Given the description of an element on the screen output the (x, y) to click on. 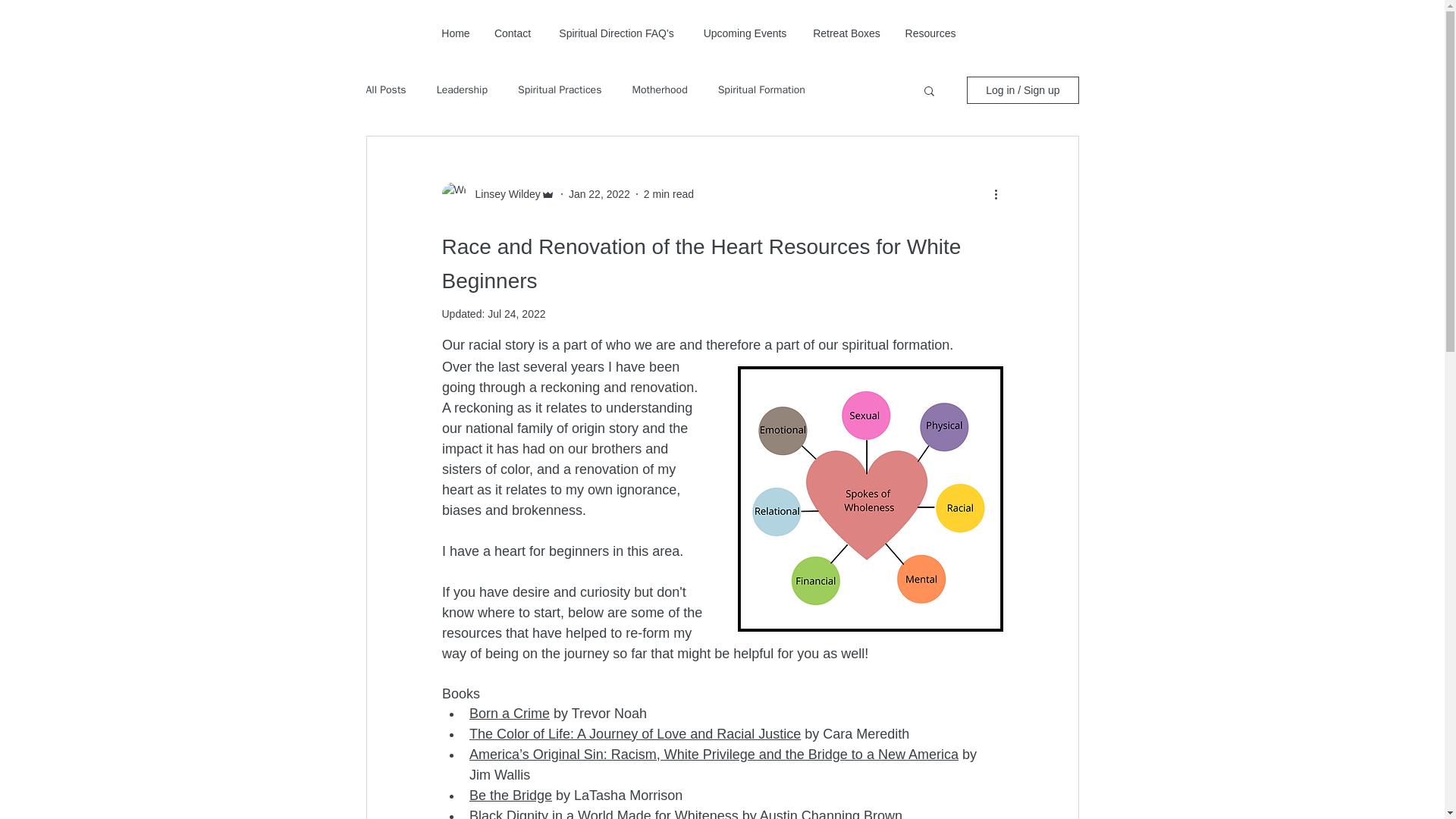
Born a Crime (508, 713)
Spiritual Formation (761, 90)
Home (455, 33)
Resources (930, 33)
Motherhood (659, 90)
Linsey Wildey (502, 194)
Jul 24, 2022 (515, 313)
Leadership (461, 90)
Contact (512, 33)
Spiritual Practices (559, 90)
Upcoming Events (745, 33)
Black Dignity in a World Made for Whiteness (603, 813)
Spiritual Direction FAQ's (615, 33)
Jan 22, 2022 (599, 193)
Be the Bridge (509, 795)
